Given the description of an element on the screen output the (x, y) to click on. 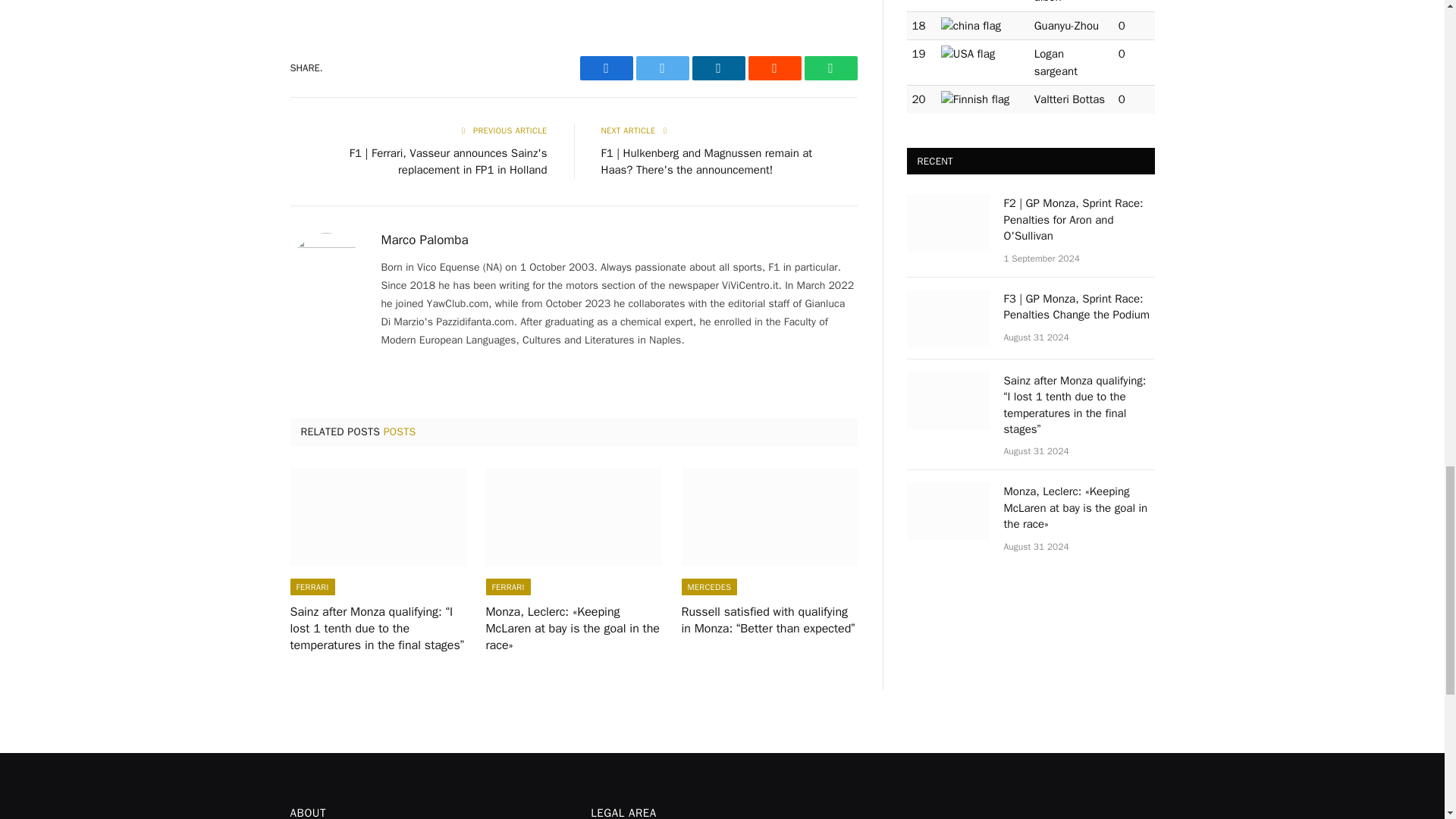
Share on Reddit (774, 68)
Share on LinkedIn (717, 68)
Share on Facebook (605, 68)
